Given the description of an element on the screen output the (x, y) to click on. 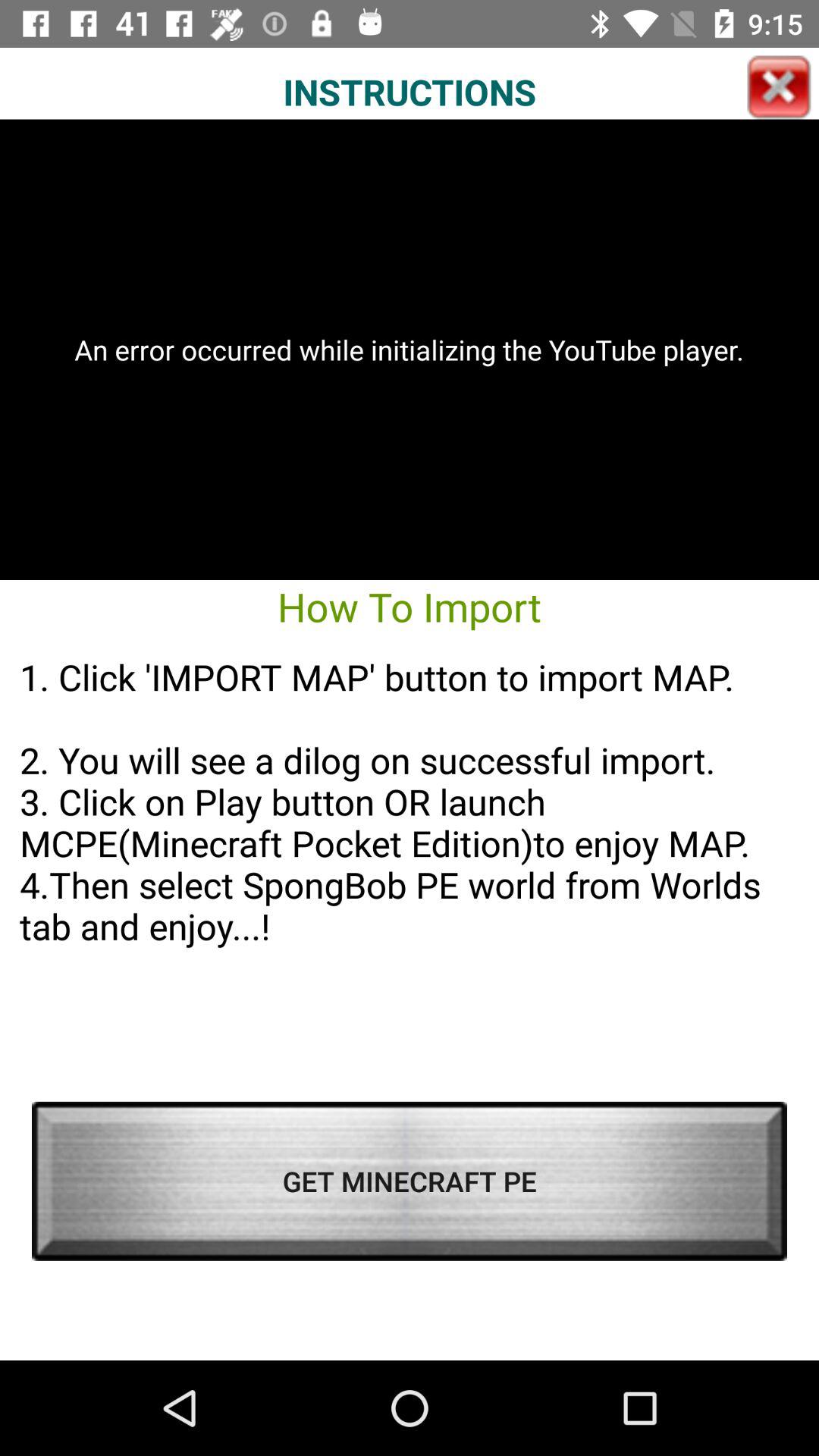
open the get minecraft pe icon (409, 1180)
